Given the description of an element on the screen output the (x, y) to click on. 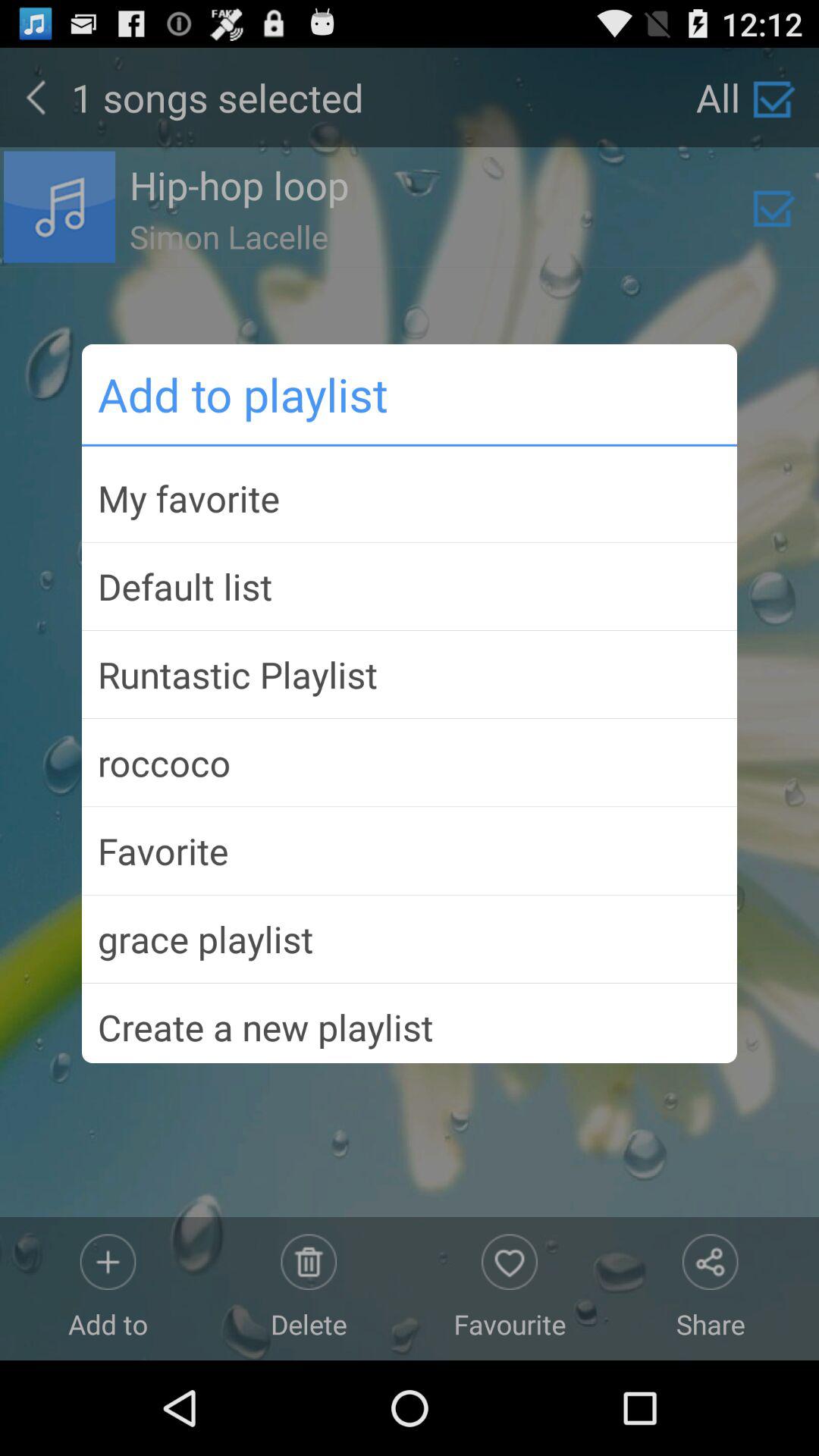
select the roccoco (409, 762)
